Given the description of an element on the screen output the (x, y) to click on. 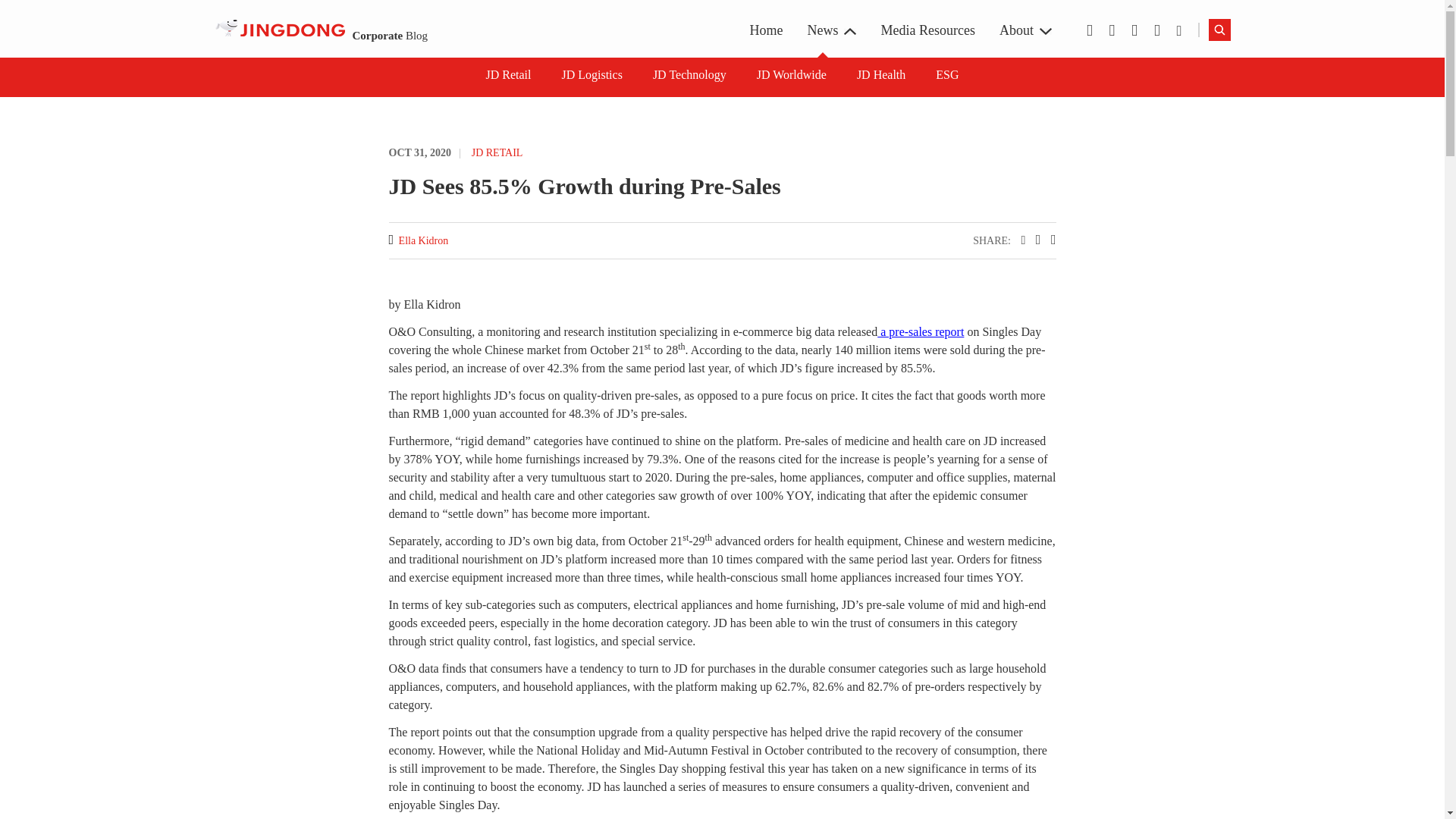
JD Worldwide (792, 75)
JD Health (881, 75)
ESG (941, 17)
JD Retail (507, 75)
JD Logistics (590, 75)
JD Worldwide (792, 75)
ESG (947, 75)
JD Technology (683, 17)
JD Retail (502, 17)
JD Retail (507, 75)
